Given the description of an element on the screen output the (x, y) to click on. 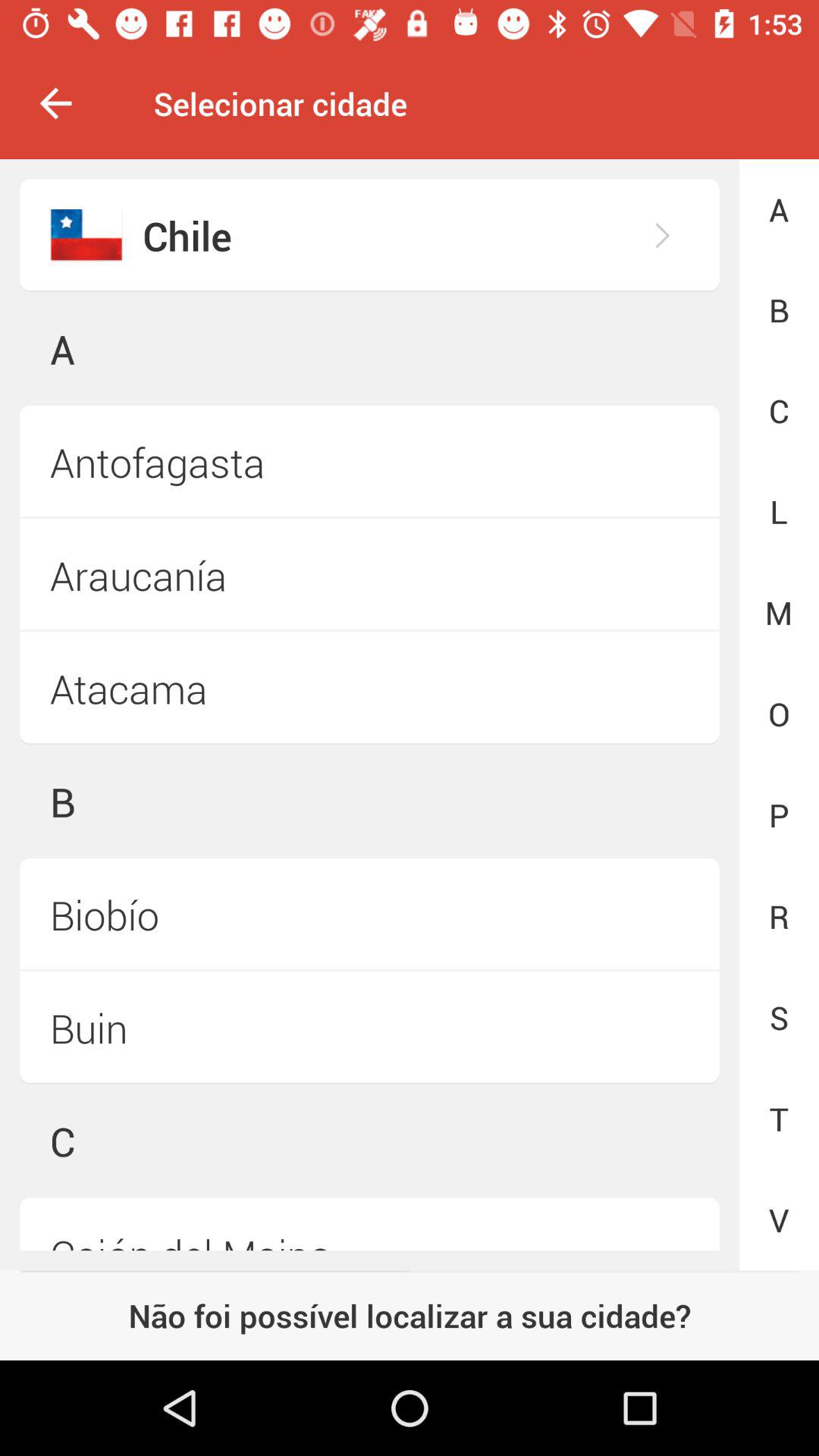
turn off the icon to the left of v app (369, 1223)
